Given the description of an element on the screen output the (x, y) to click on. 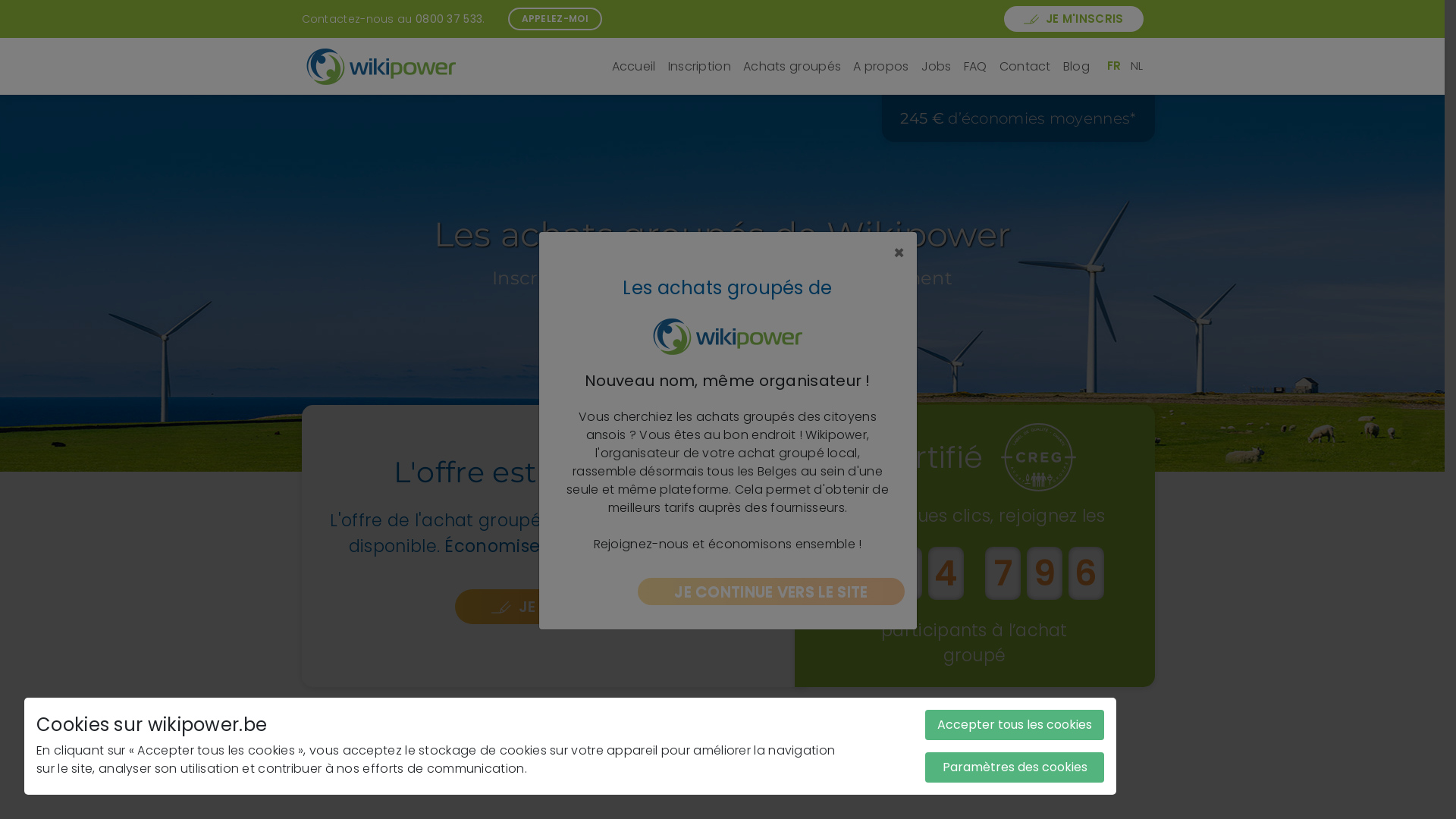
Inscription Element type: text (699, 66)
Accueil Element type: text (633, 66)
Accepter tous les cookies Element type: text (1014, 724)
NL Element type: text (1136, 65)
JE CONTINUE VERS LE SITE Element type: text (771, 591)
APPELEZ-MOI Element type: text (555, 18)
0800 37 533 Element type: text (448, 17)
JE M'INSCRIS Element type: text (1073, 19)
Blog Element type: text (1076, 66)
FAQ Element type: text (975, 66)
Jobs Element type: text (936, 66)
JE M'INSCRIS Element type: text (553, 606)
Contact Element type: text (1025, 66)
